Given the description of an element on the screen output the (x, y) to click on. 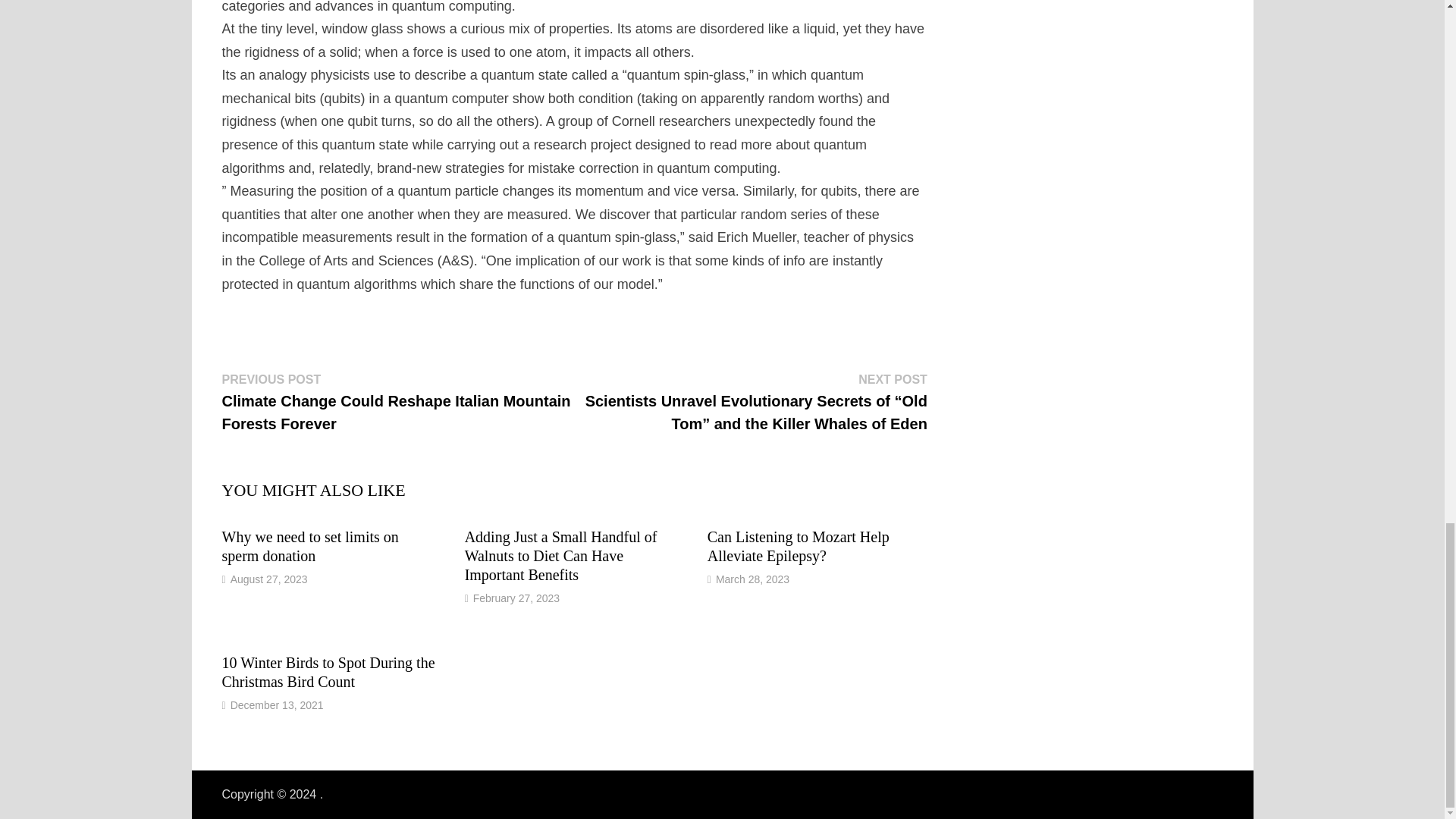
Why we need to set limits on sperm donation (309, 546)
March 28, 2023 (752, 579)
10 Winter Birds to Spot During the Christmas Bird Count (327, 672)
August 27, 2023 (268, 579)
December 13, 2021 (276, 705)
Can Listening to Mozart Help Alleviate Epilepsy? (798, 546)
10 Winter Birds to Spot During the Christmas Bird Count (327, 672)
February 27, 2023 (516, 598)
Can Listening to Mozart Help Alleviate Epilepsy? (798, 546)
